Given the description of an element on the screen output the (x, y) to click on. 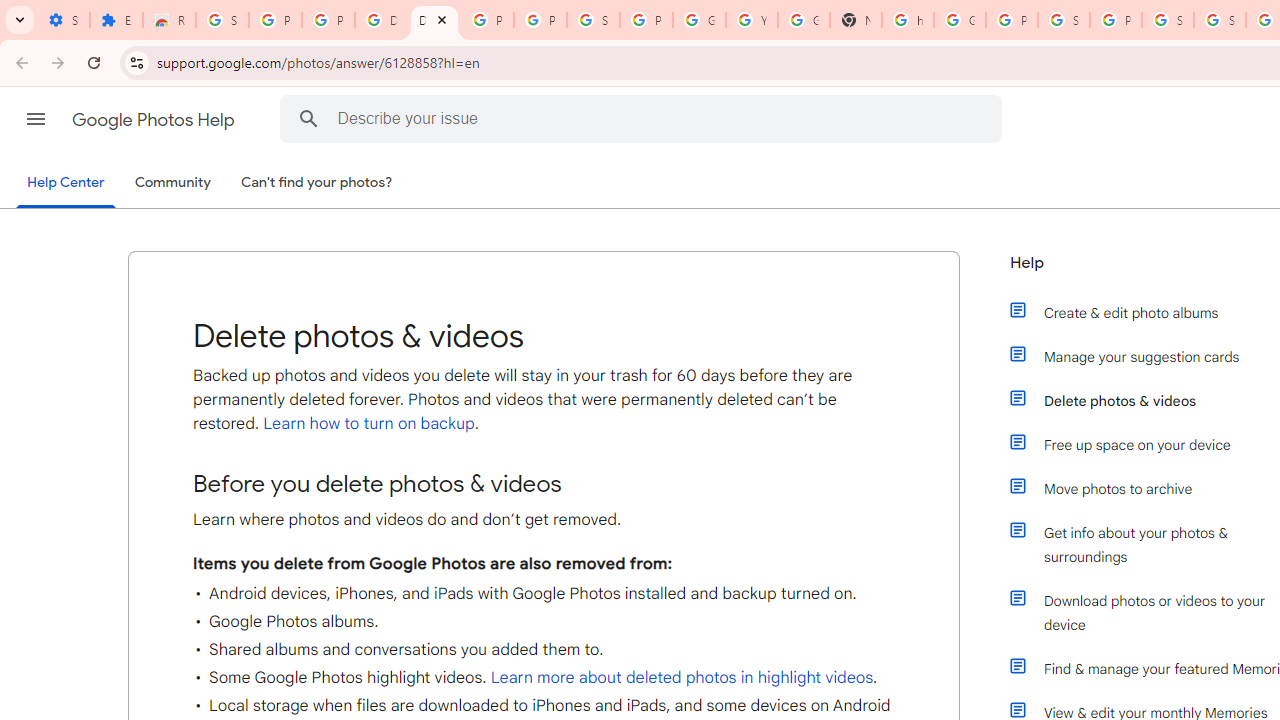
Delete photos & videos - Computer - Google Photos Help (434, 20)
Main menu (35, 119)
New Tab (855, 20)
Community (171, 183)
Sign in - Google Accounts (222, 20)
Sign in - Google Accounts (1064, 20)
Sign in - Google Accounts (1167, 20)
Extensions (116, 20)
